Given the description of an element on the screen output the (x, y) to click on. 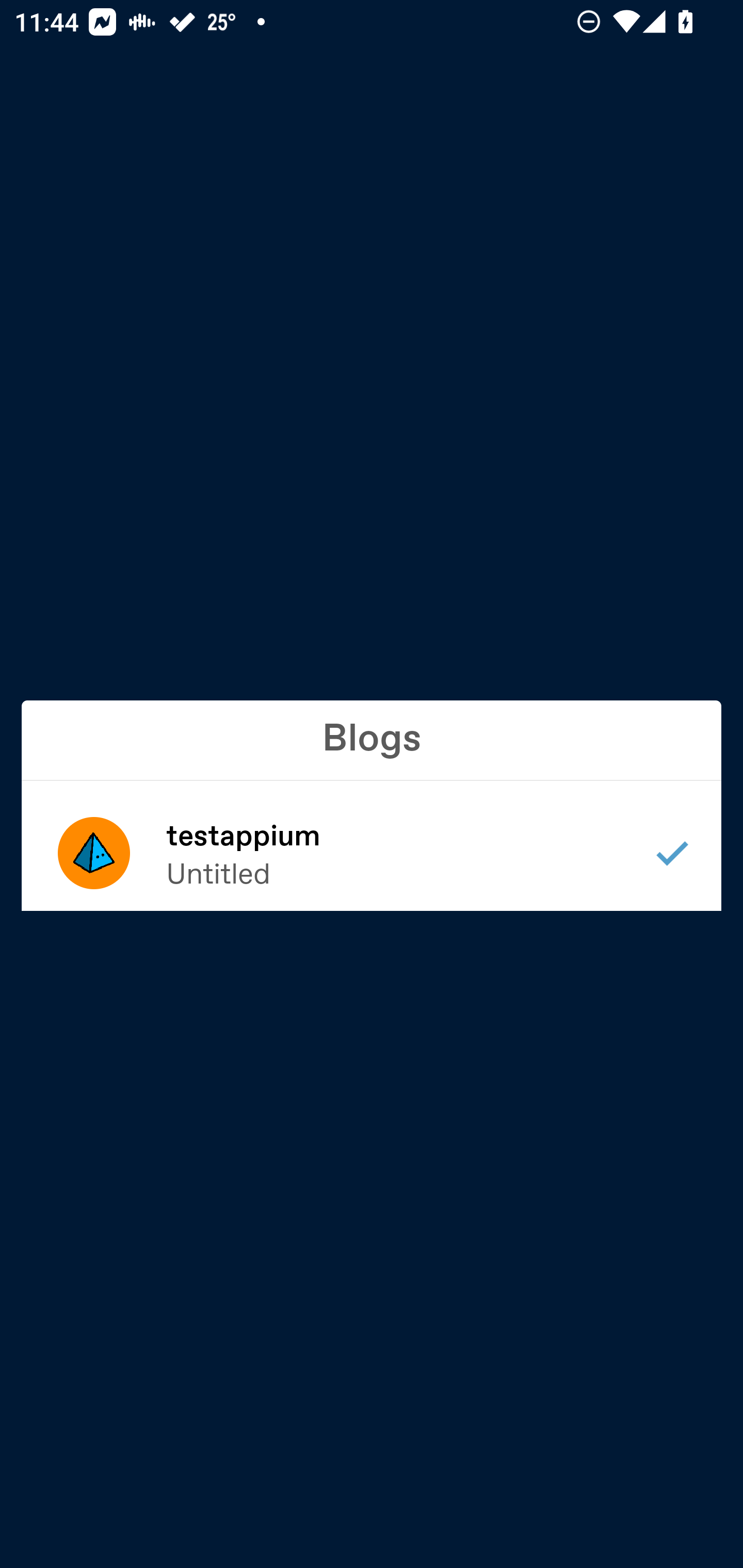
testappium Untitled (371, 852)
